Given the description of an element on the screen output the (x, y) to click on. 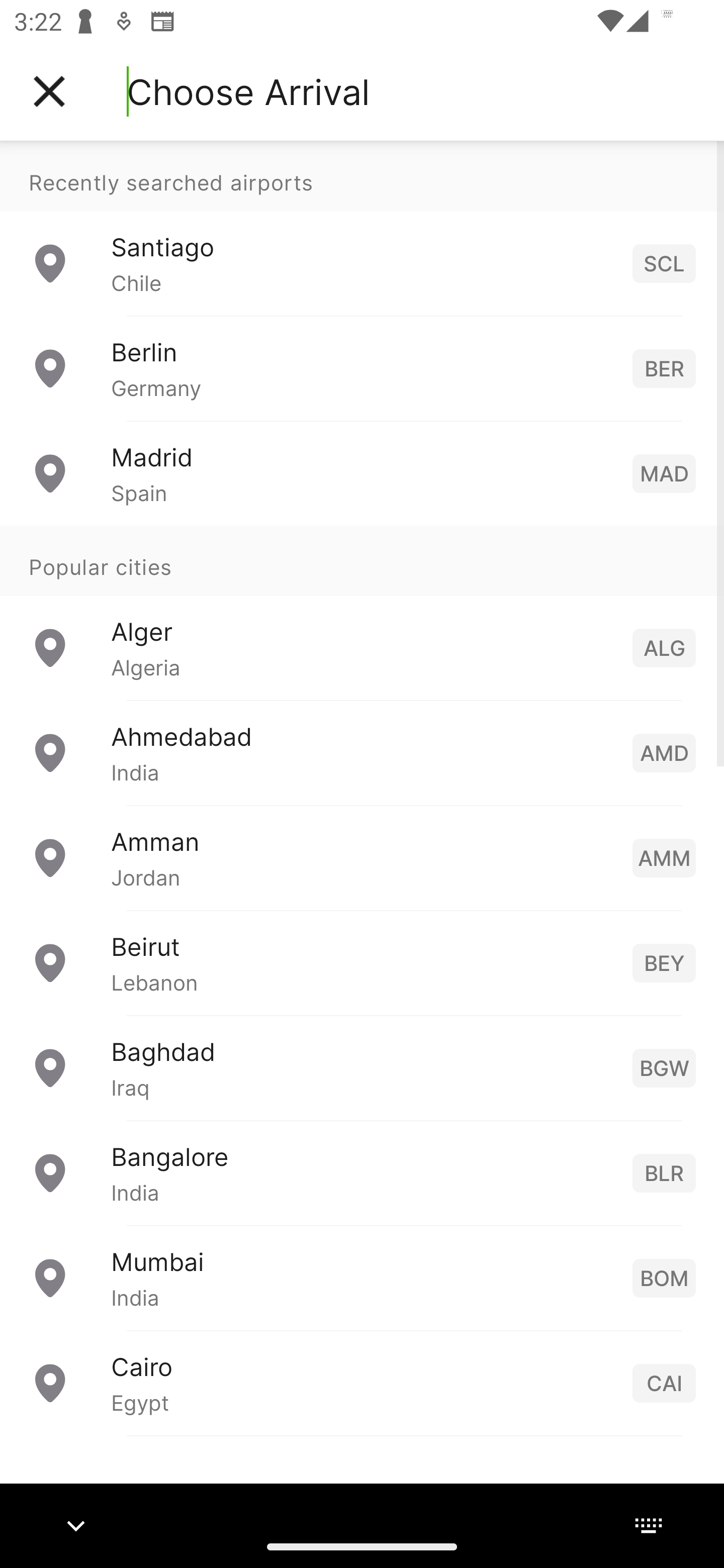
Choose Arrival (247, 91)
Recently searched airports Santiago Chile SCL (362, 228)
Recently searched airports (362, 176)
Berlin Germany BER (362, 367)
Madrid Spain MAD (362, 472)
Popular cities Alger Algeria ALG (362, 612)
Popular cities (362, 560)
Ahmedabad India AMD (362, 751)
Amman Jordan AMM (362, 856)
Beirut Lebanon BEY (362, 961)
Baghdad Iraq BGW (362, 1066)
Bangalore India BLR (362, 1171)
Mumbai India BOM (362, 1276)
Cairo Egypt CAI (362, 1381)
